Given the description of an element on the screen output the (x, y) to click on. 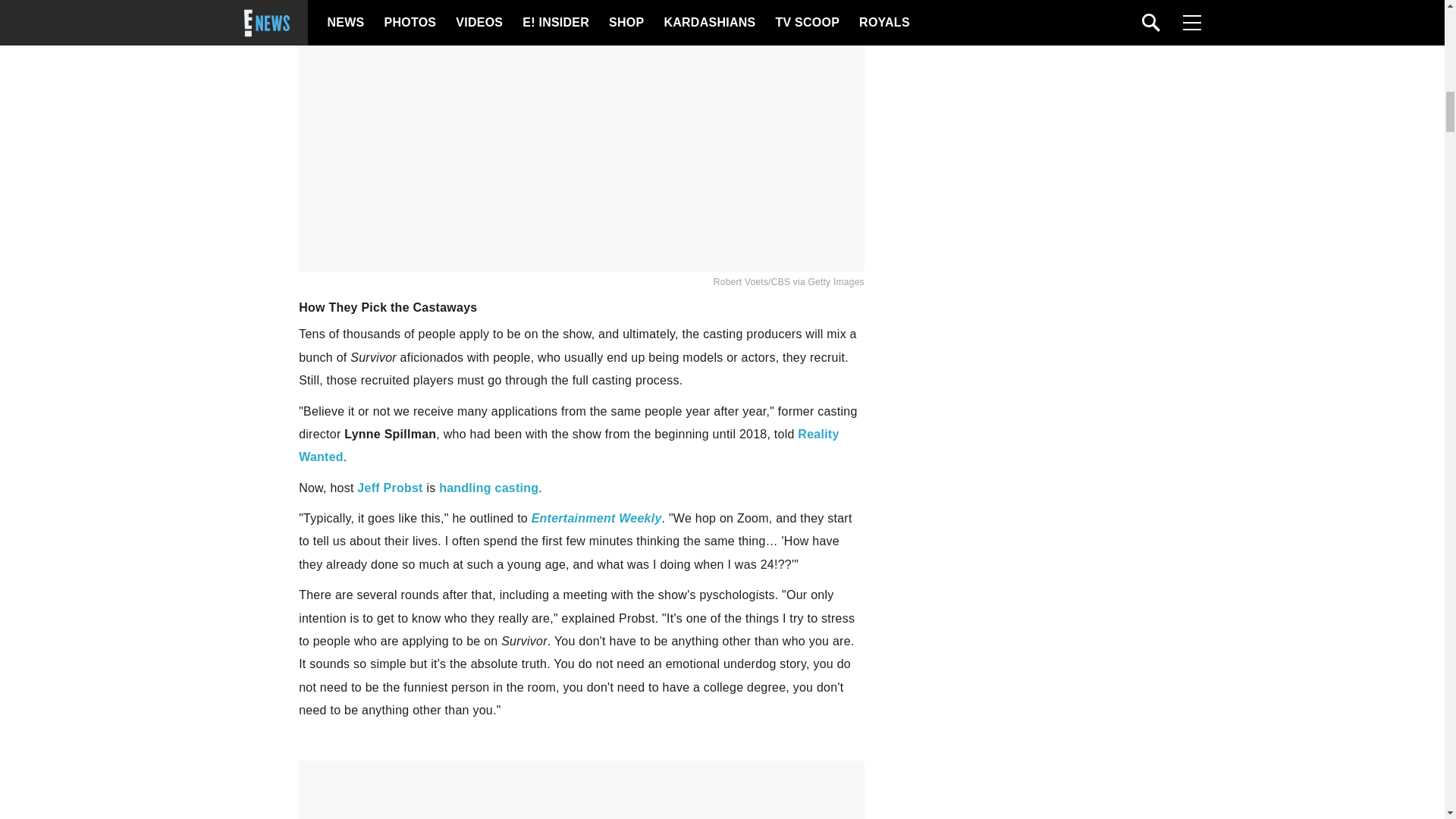
handling casting (488, 487)
Entertainment Weekly (596, 517)
Jeff Probst (389, 487)
Reality Wanted (568, 445)
